Given the description of an element on the screen output the (x, y) to click on. 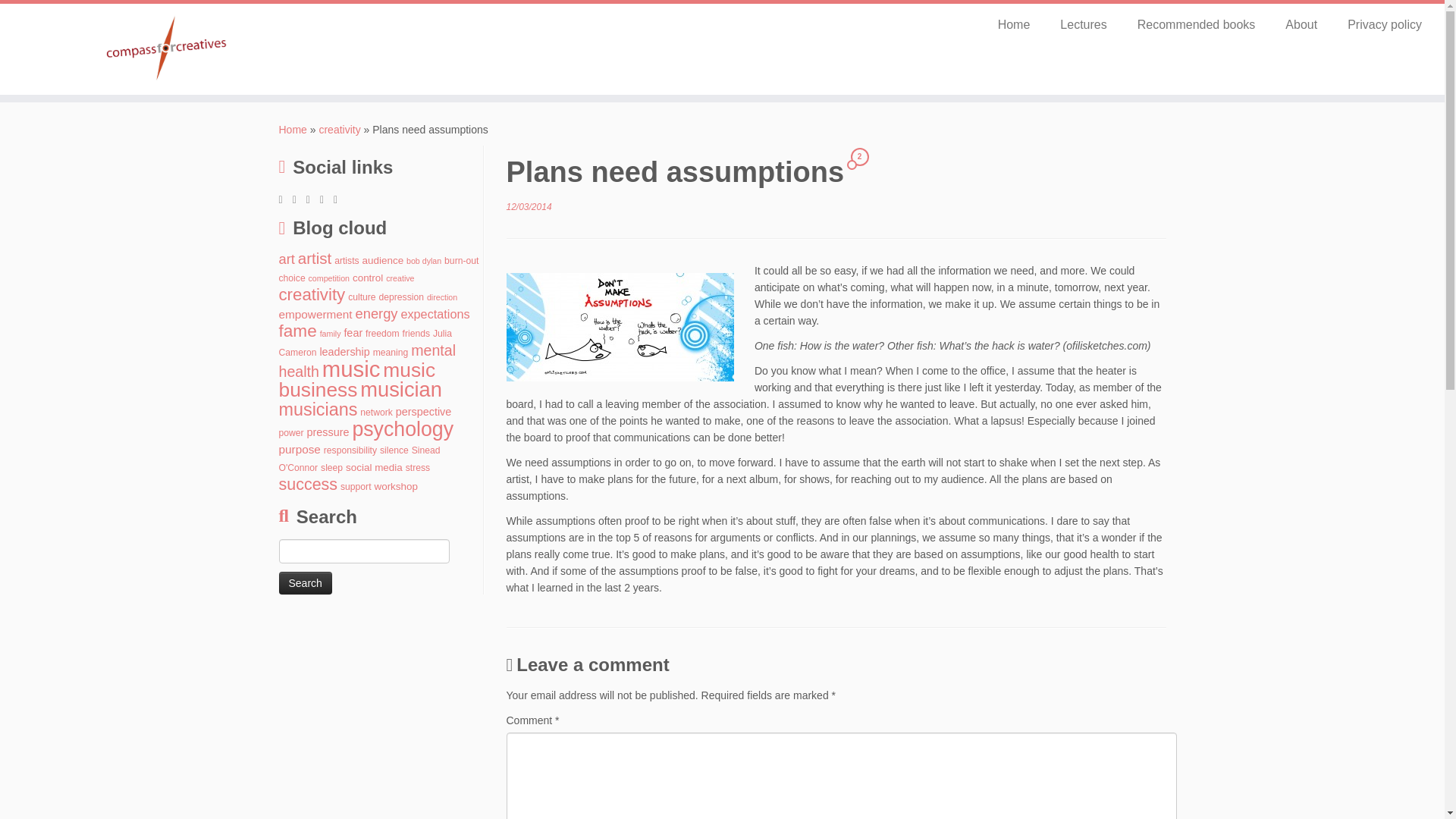
expectations (434, 314)
Home (1013, 24)
family (330, 333)
creativity (338, 129)
friends (416, 333)
empowerment (315, 314)
fame (298, 330)
burn-out (461, 260)
culture (361, 296)
Search (305, 582)
leadership (343, 351)
Recommended books (1196, 24)
choice (292, 277)
meaning (390, 352)
artists (346, 260)
